Given the description of an element on the screen output the (x, y) to click on. 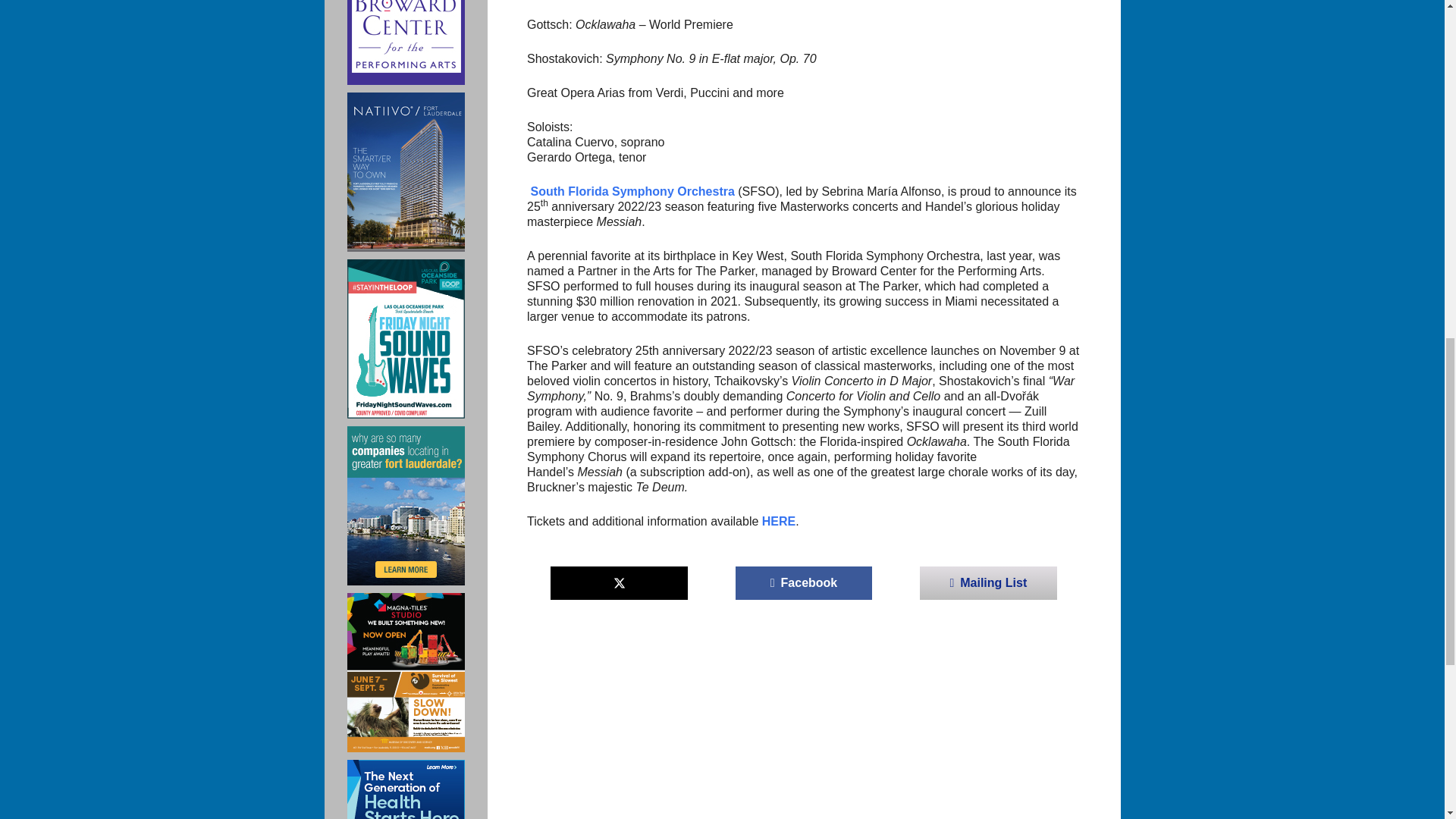
Mailing List (988, 582)
HERE (777, 521)
Facebook (803, 582)
South Florida Symphony Orchestra (631, 191)
